Given the description of an element on the screen output the (x, y) to click on. 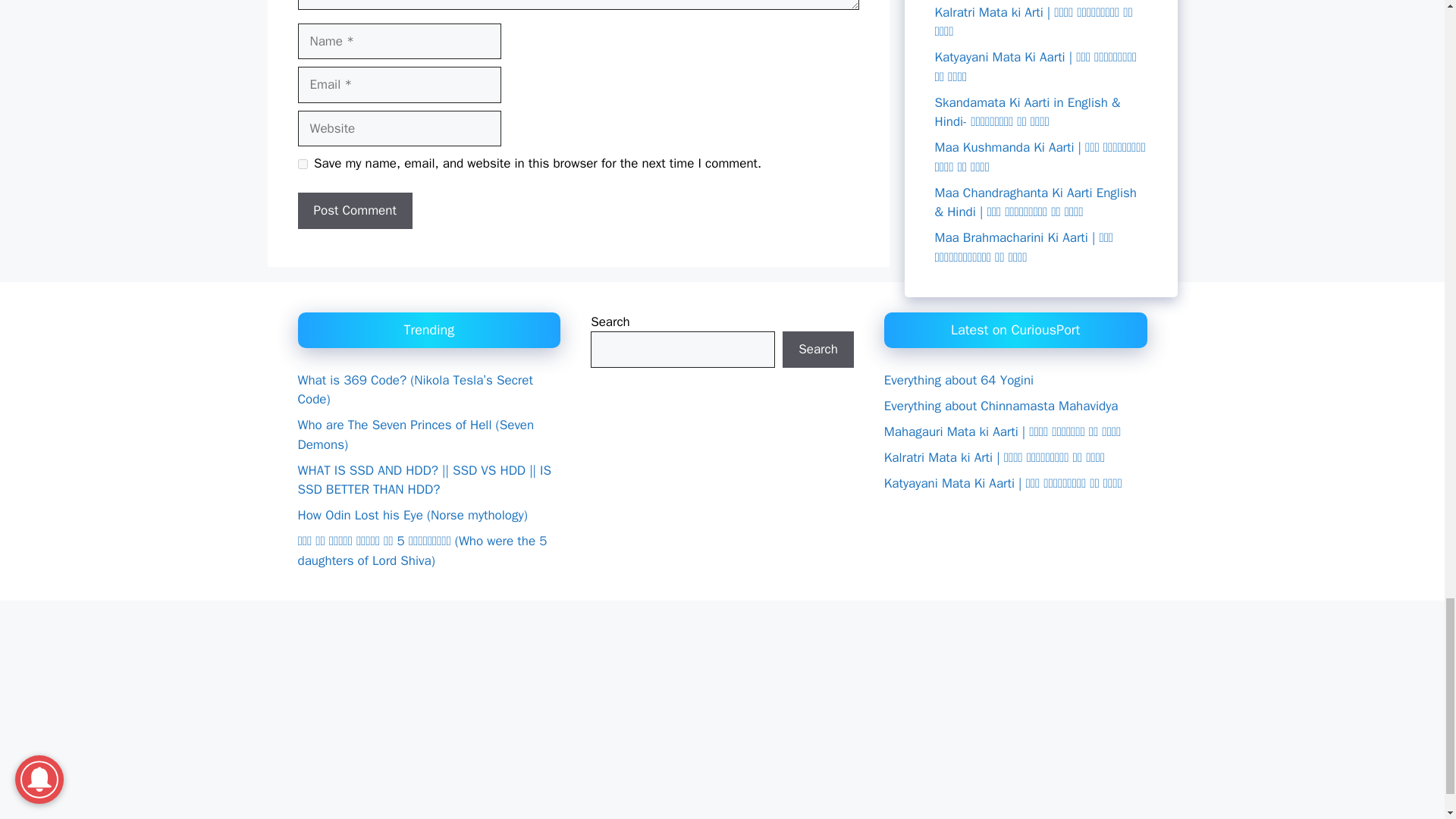
yes (302, 163)
Post Comment (354, 210)
Post Comment (354, 210)
